Given the description of an element on the screen output the (x, y) to click on. 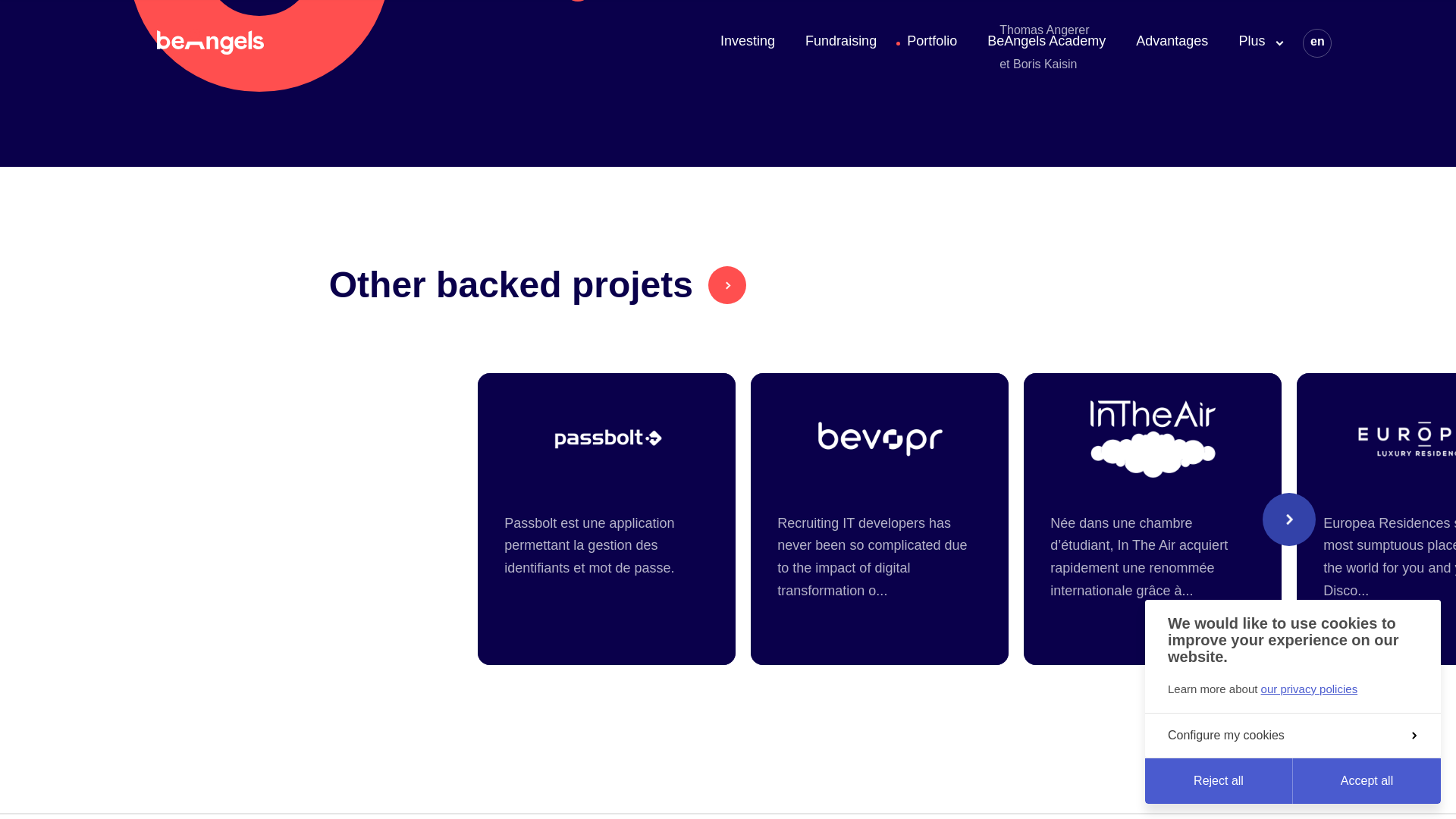
Site web (534, 3)
